Given the description of an element on the screen output the (x, y) to click on. 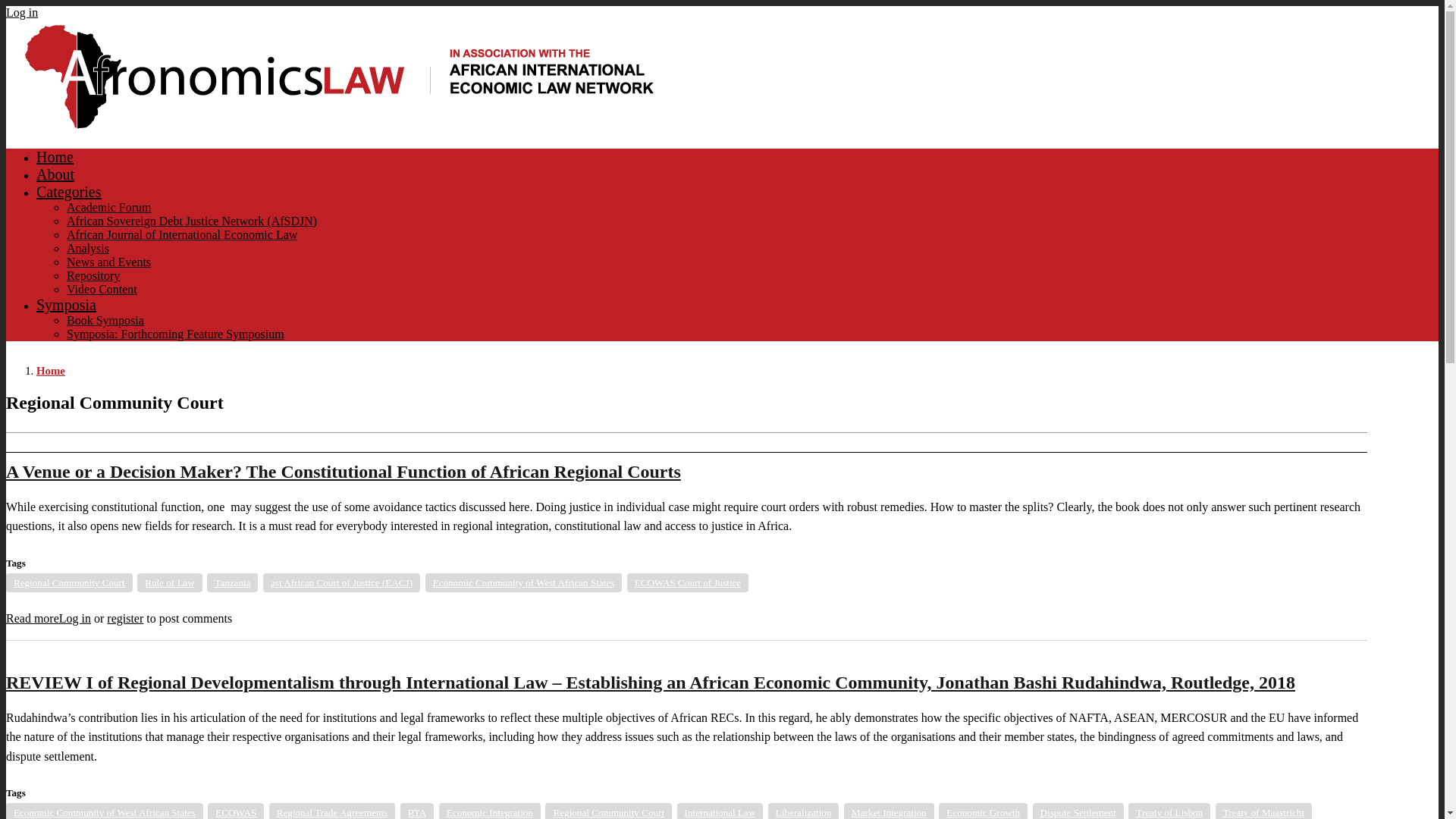
African Journal of International Economic Law (181, 234)
News and Events (108, 261)
Repository (92, 275)
Liberalization (804, 811)
Market Integration (889, 811)
Book Symposia (105, 319)
News and Events (108, 261)
Economic Integration (489, 811)
Video Content (101, 288)
Skip to main content (722, 7)
